Given the description of an element on the screen output the (x, y) to click on. 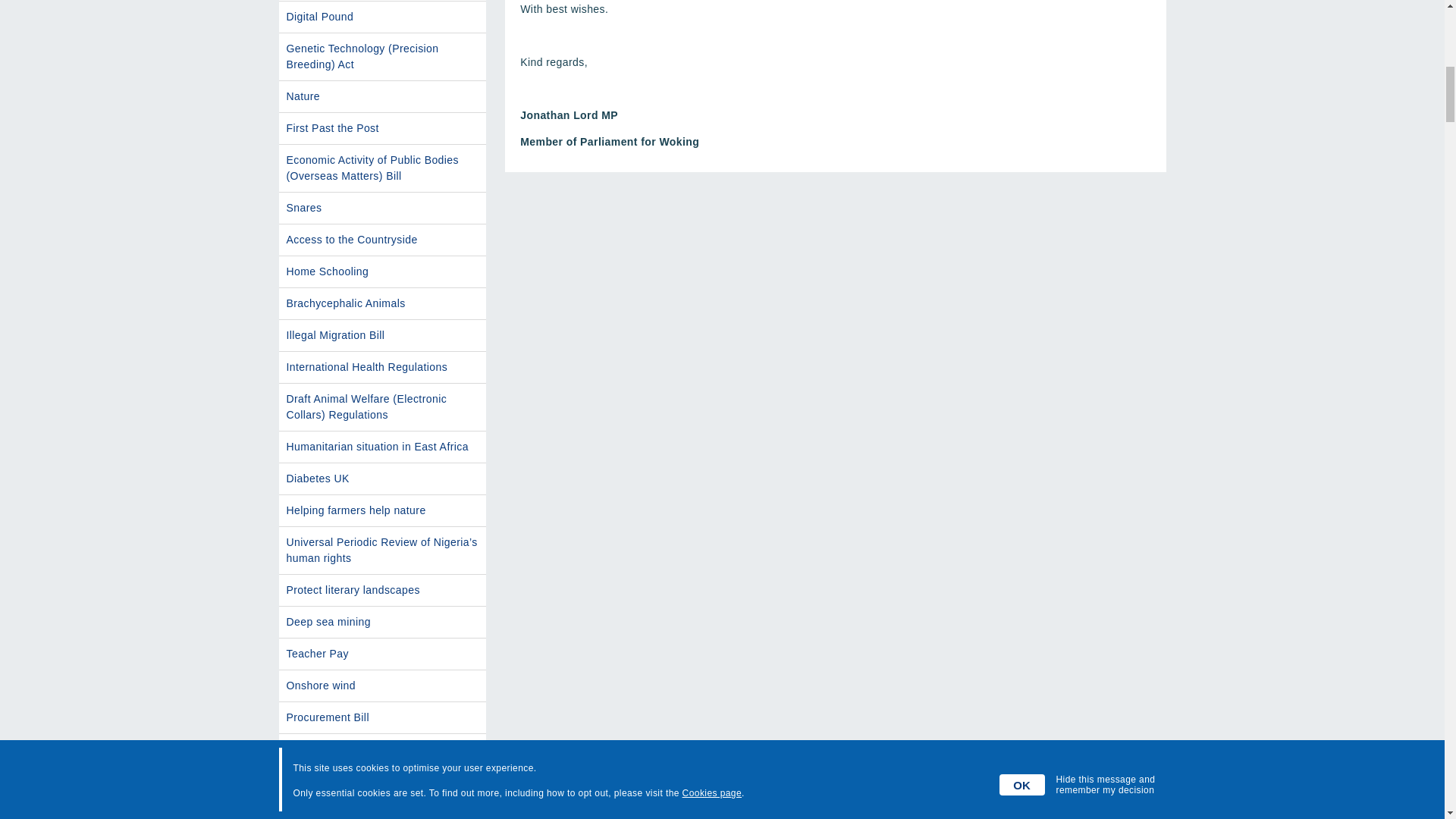
Digital Pound (382, 16)
Nature (382, 96)
First Past the Post (382, 128)
Snares (382, 207)
